Given the description of an element on the screen output the (x, y) to click on. 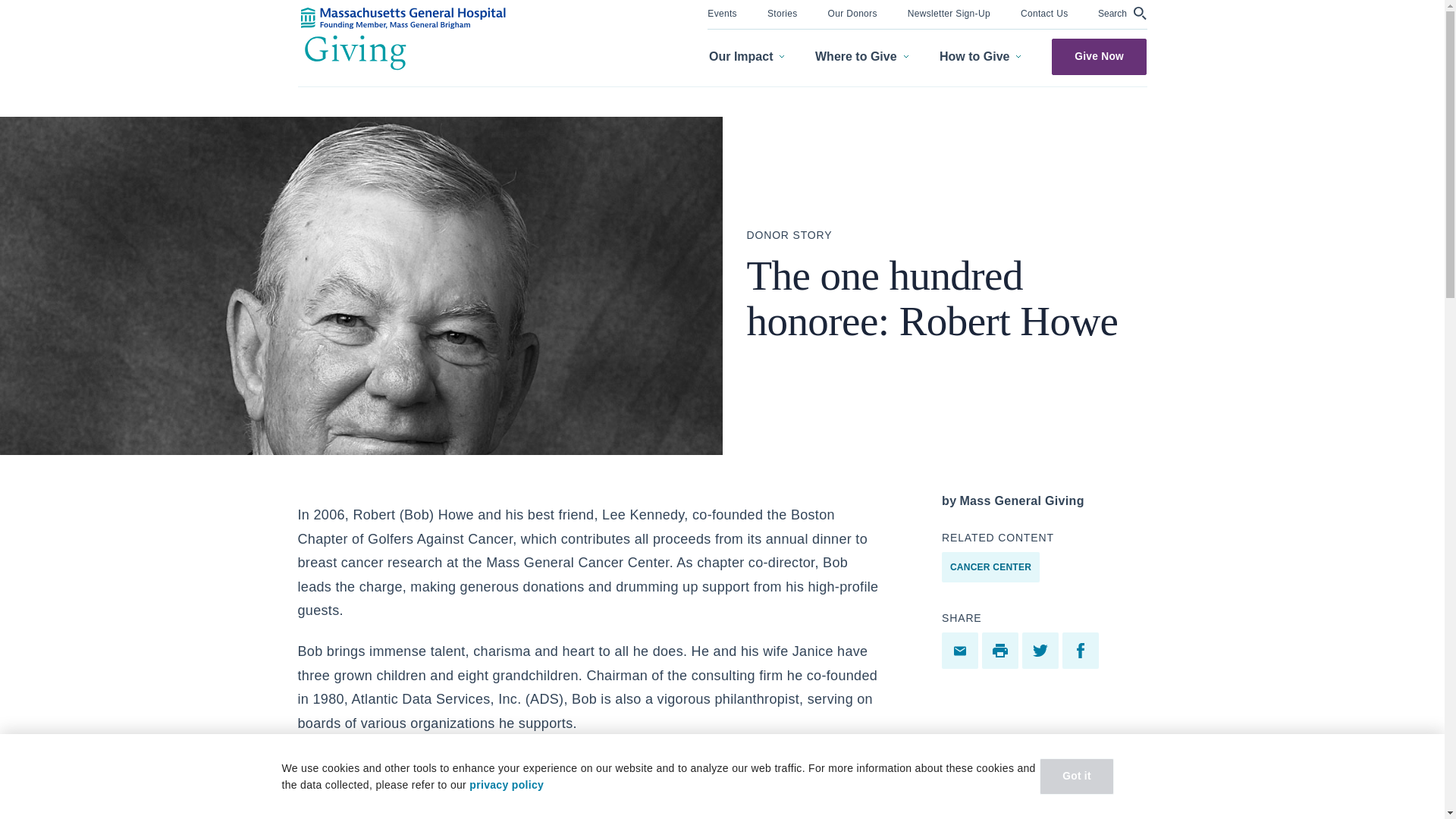
Contact Us (1044, 11)
Give Now (1099, 56)
Search (1122, 12)
Stories (782, 11)
How to Give (980, 56)
Our Donors (852, 11)
CANCER CENTER (990, 567)
Where to Give (861, 56)
Events (721, 11)
Newsletter Sign-Up (948, 11)
Our Impact (746, 56)
